Given the description of an element on the screen output the (x, y) to click on. 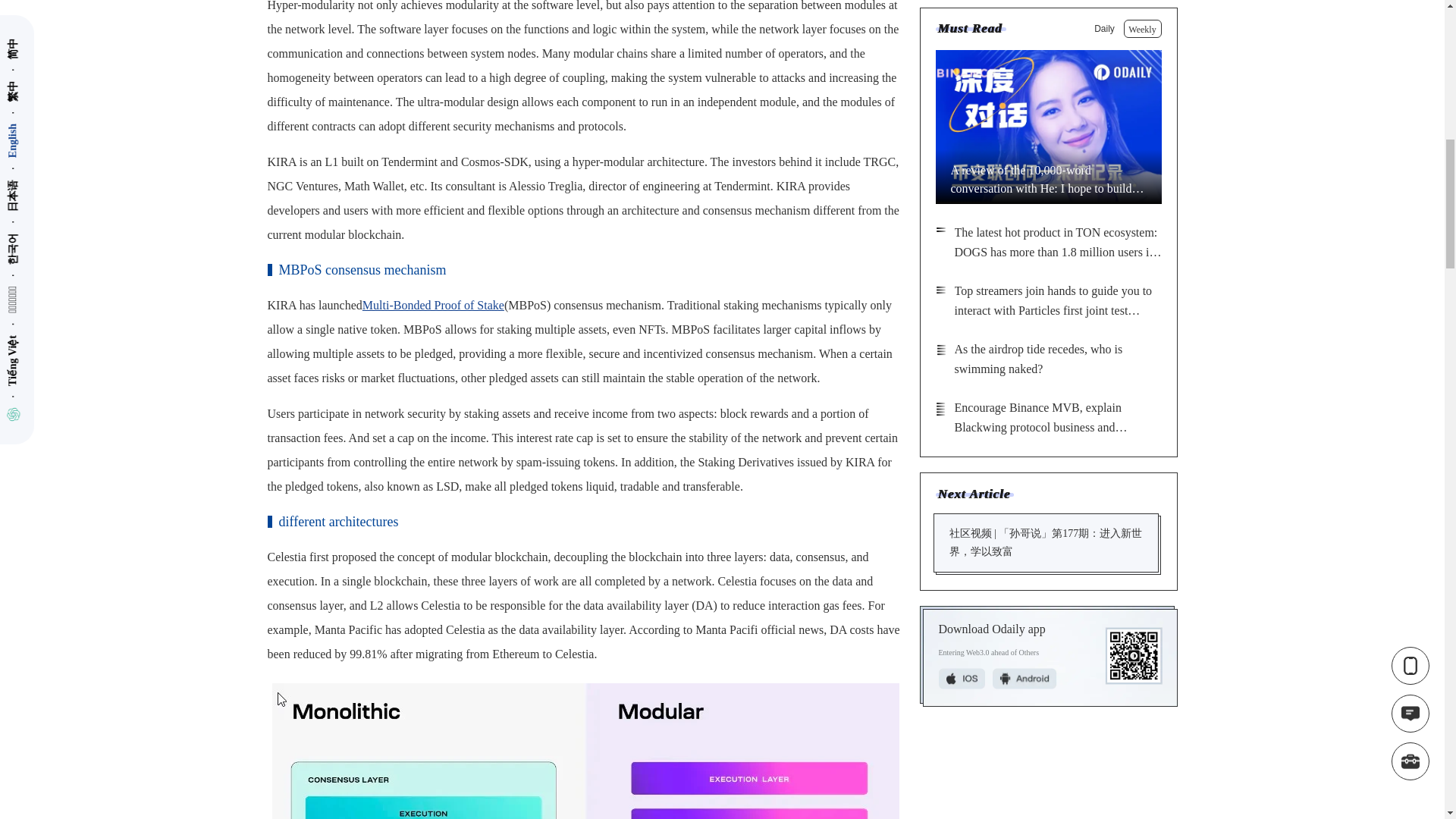
Multi-Bonded Proof of Stake (432, 305)
